Given the description of an element on the screen output the (x, y) to click on. 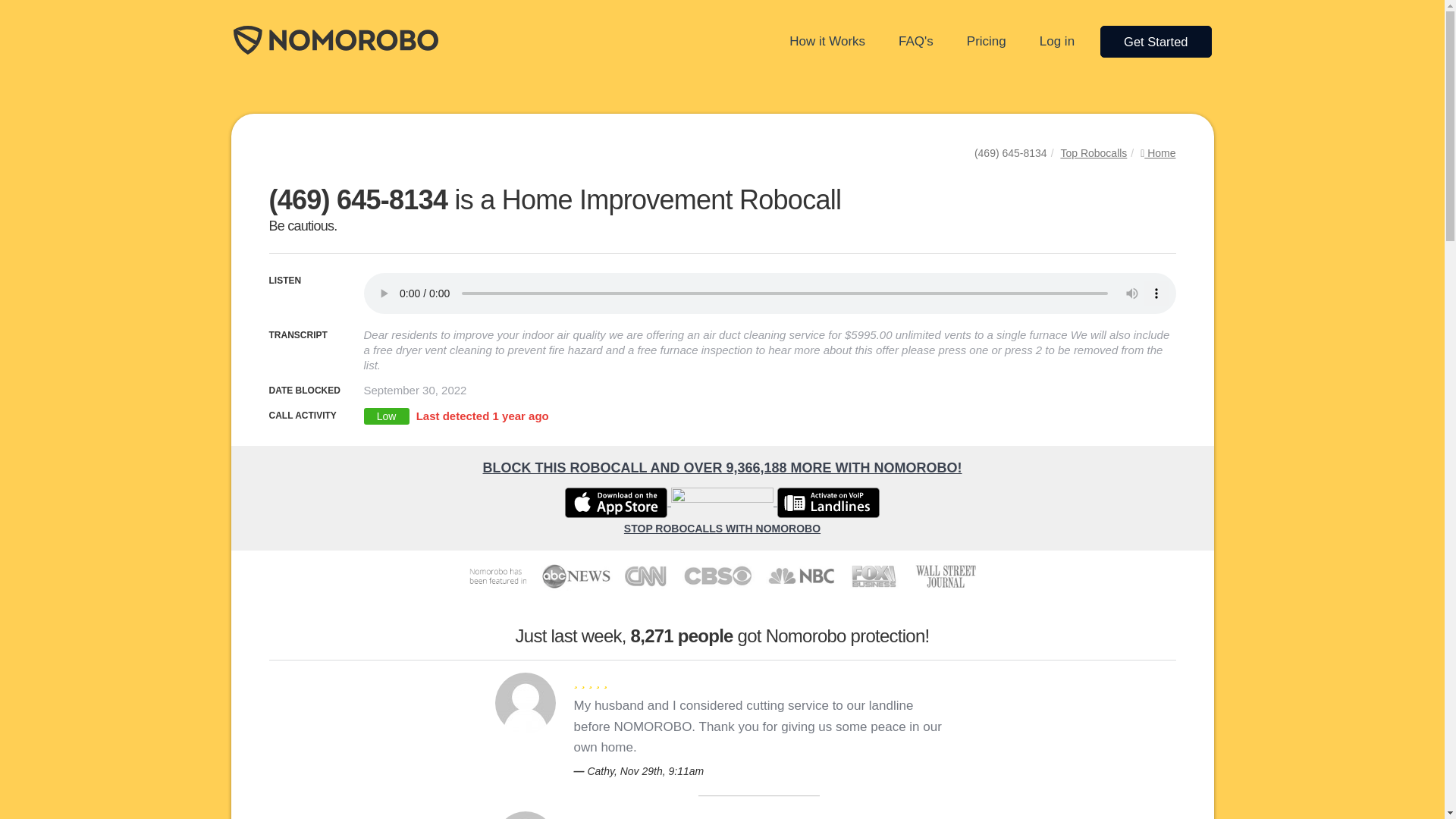
Top Robocalls (1092, 152)
Log in (1056, 41)
Home (1157, 152)
Get Started (1155, 41)
How it Works (826, 41)
Pricing (986, 41)
FAQ's (915, 41)
BLOCK THIS ROBOCALL AND OVER 9,366,188 MORE WITH NOMOROBO! (721, 468)
